Given the description of an element on the screen output the (x, y) to click on. 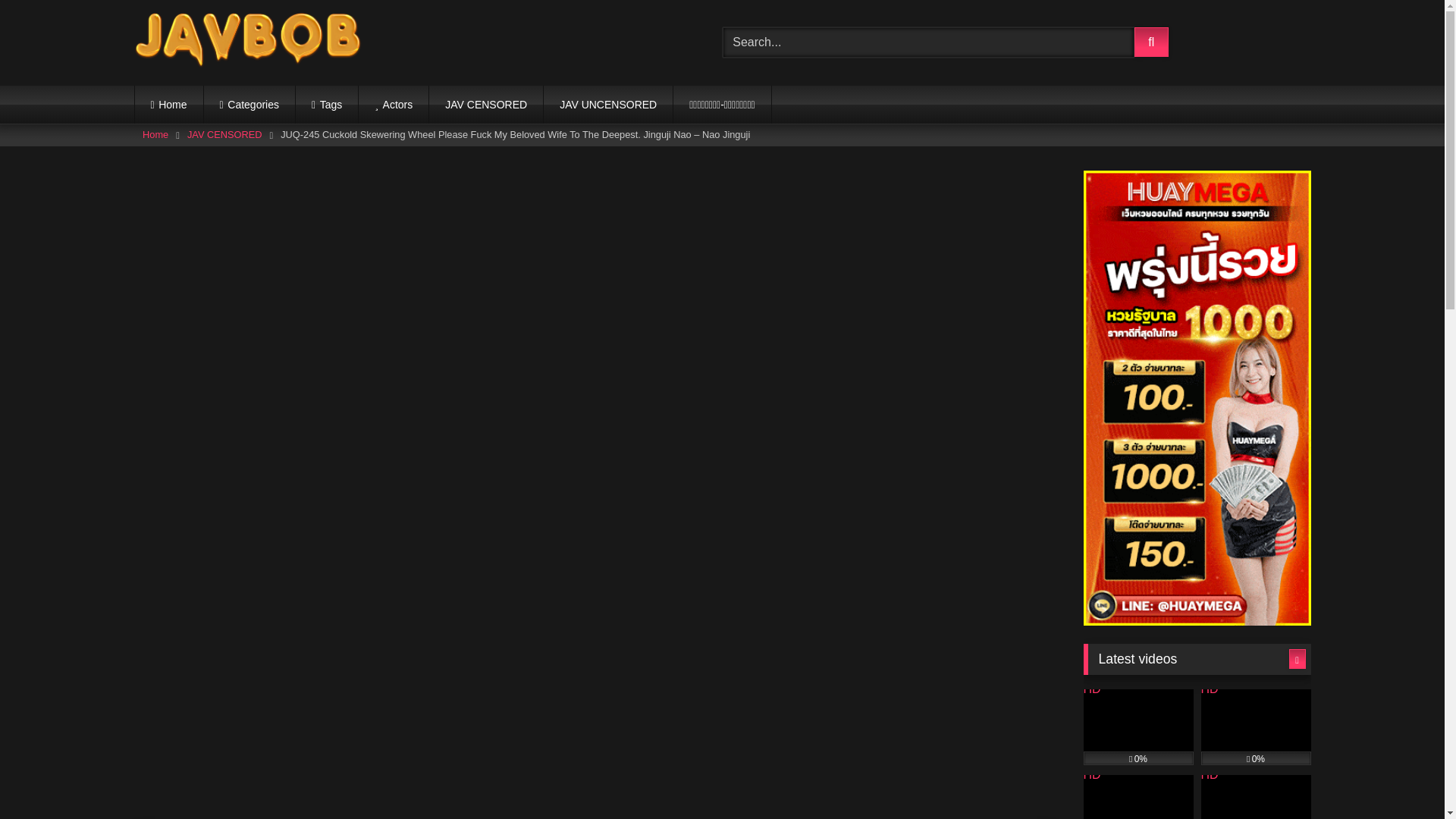
Categories (249, 104)
fullslot (594, 798)
JAV UNCENSORED (607, 104)
Search... (928, 42)
JAV CENSORED (224, 134)
Home (155, 134)
Actors (393, 104)
JAV CENSORED (486, 104)
Home (169, 104)
Tags (326, 104)
